Given the description of an element on the screen output the (x, y) to click on. 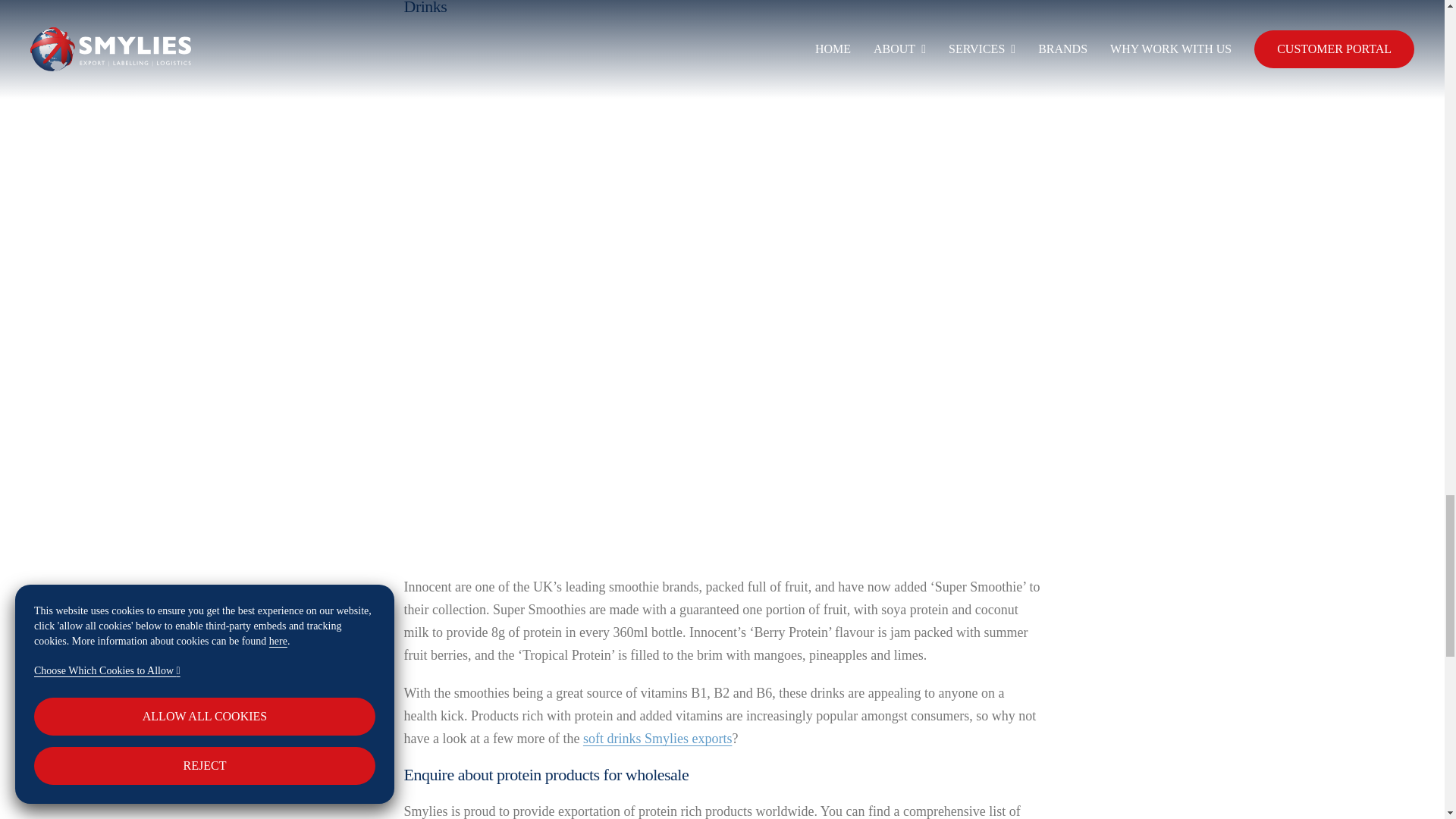
Smylies (657, 738)
